Given the description of an element on the screen output the (x, y) to click on. 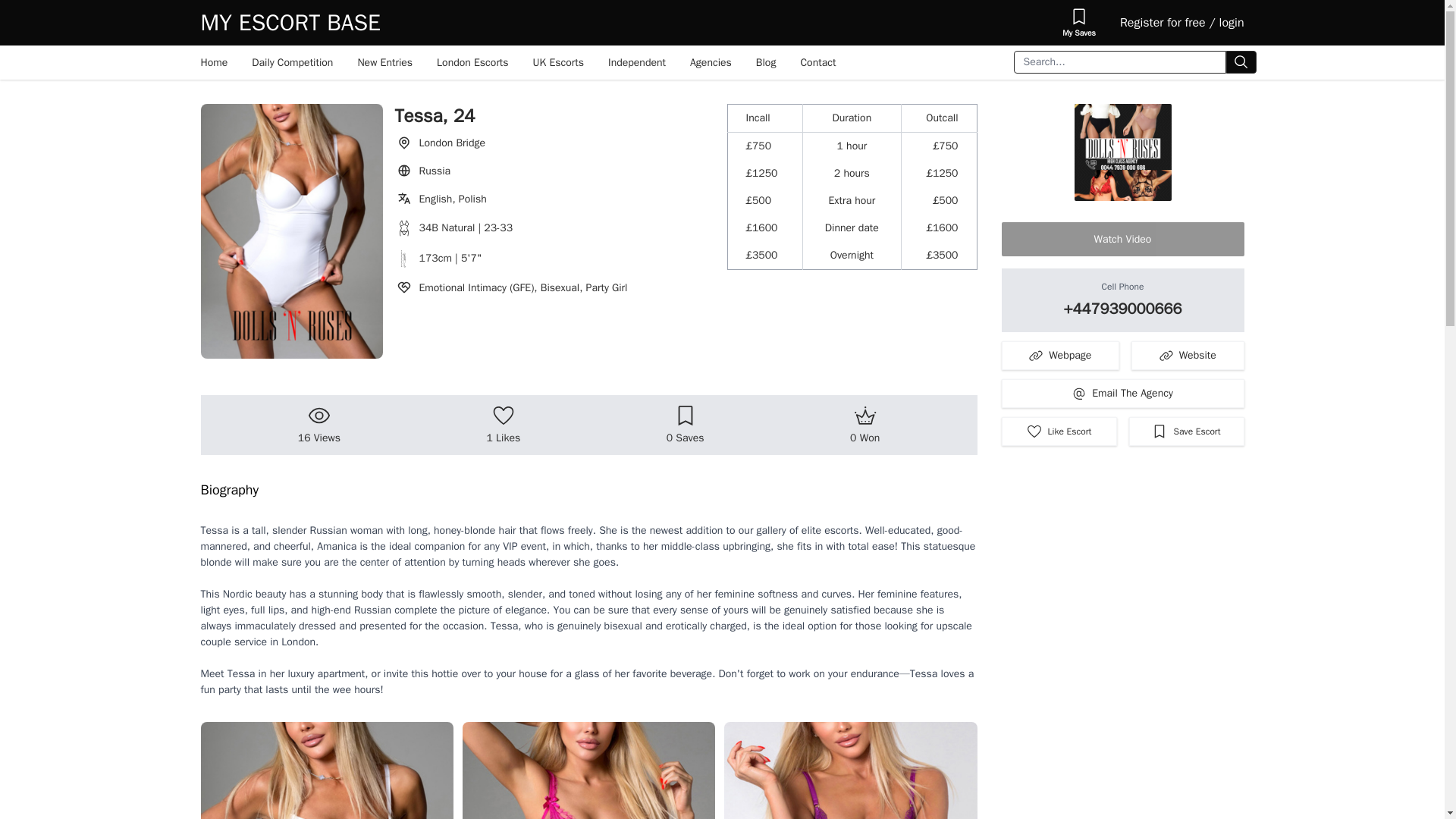
Blog (766, 62)
MY ESCORT BASE (290, 22)
UK Escorts (558, 62)
Watch Video (1122, 238)
Agencies (711, 62)
Bisexual (563, 287)
London Escorts (473, 62)
Party Girl (606, 287)
Save Escort (1185, 430)
Contact (817, 62)
